Given the description of an element on the screen output the (x, y) to click on. 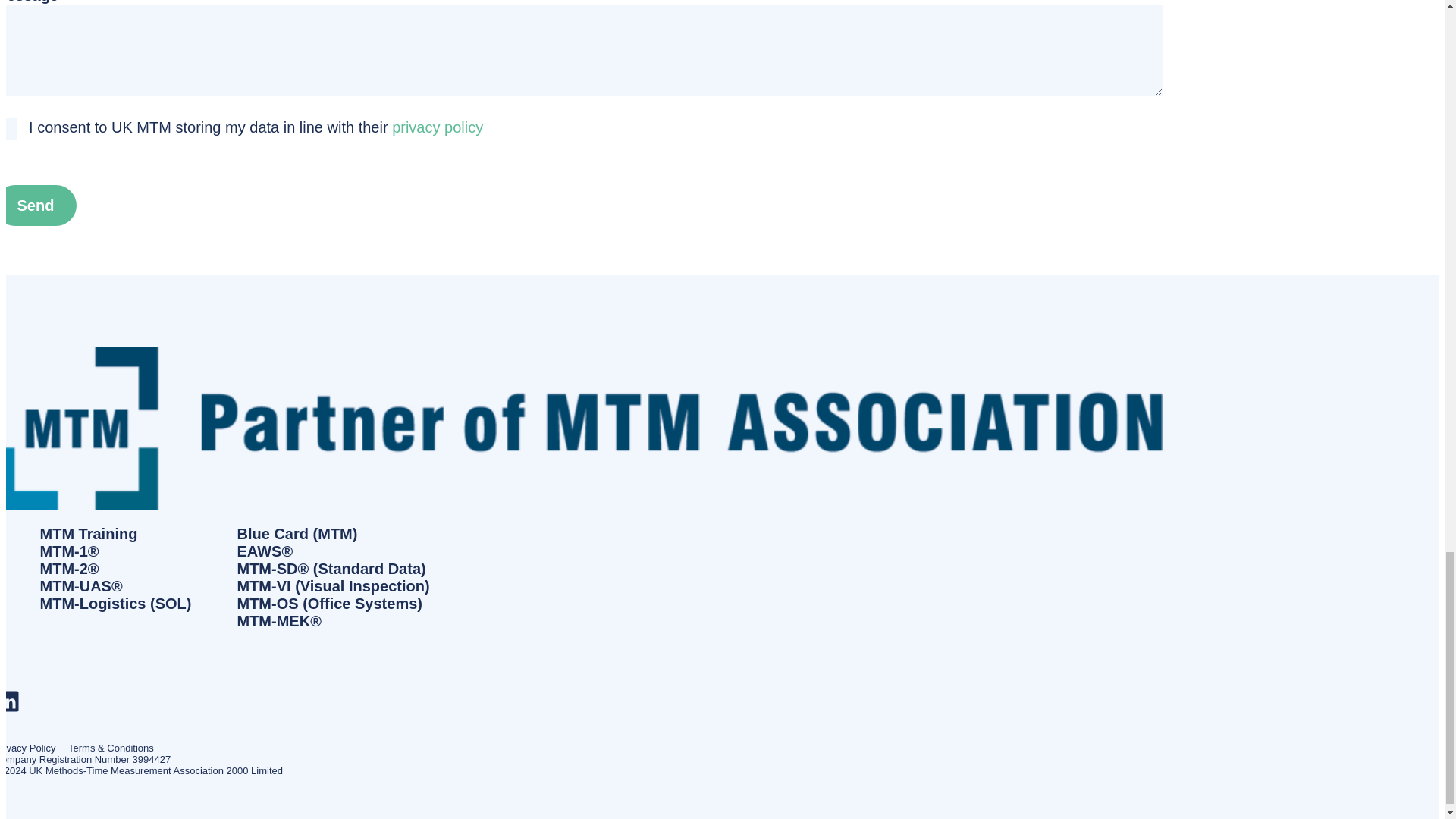
privacy policy (437, 126)
Send (38, 205)
MTM Training (114, 533)
Send (38, 205)
